Given the description of an element on the screen output the (x, y) to click on. 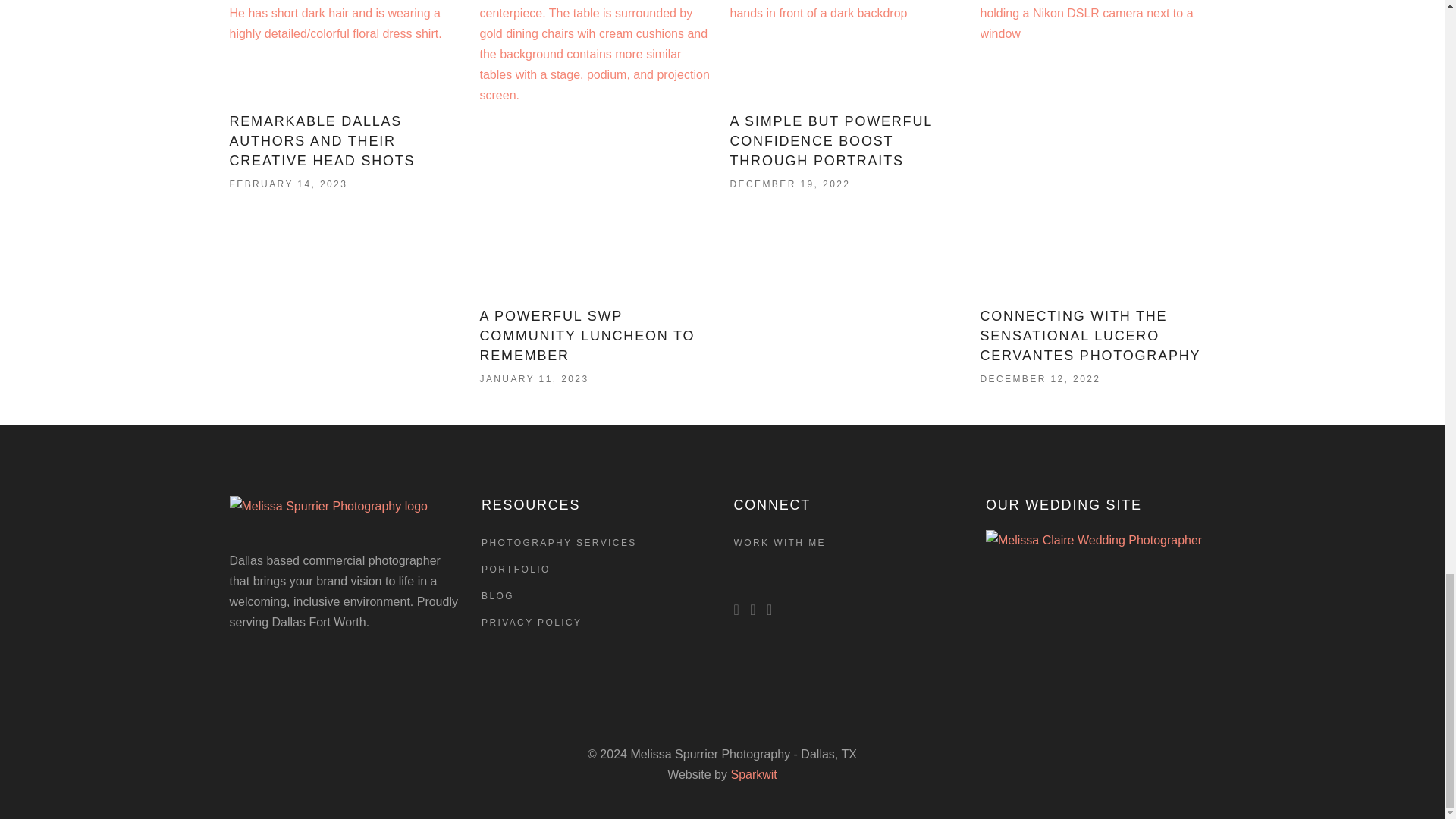
Connecting with the Sensational Lucero Cervantes Photography (1089, 335)
Remarkable Dallas Authors and Their Creative Head Shots (321, 140)
A Simple But Powerful Confidence Boost Through Portraits (846, 48)
Remarkable Dallas Authors and Their Creative Head Shots (346, 49)
A Powerful SWP Community Luncheon to Remember (586, 335)
A Simple But Powerful Confidence Boost Through Portraits (830, 140)
